Given the description of an element on the screen output the (x, y) to click on. 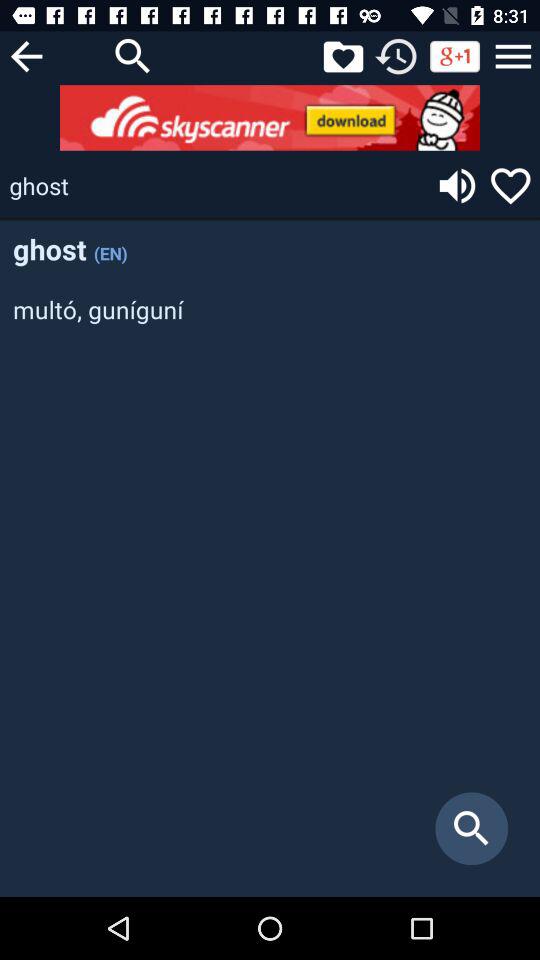
menu (513, 56)
